Given the description of an element on the screen output the (x, y) to click on. 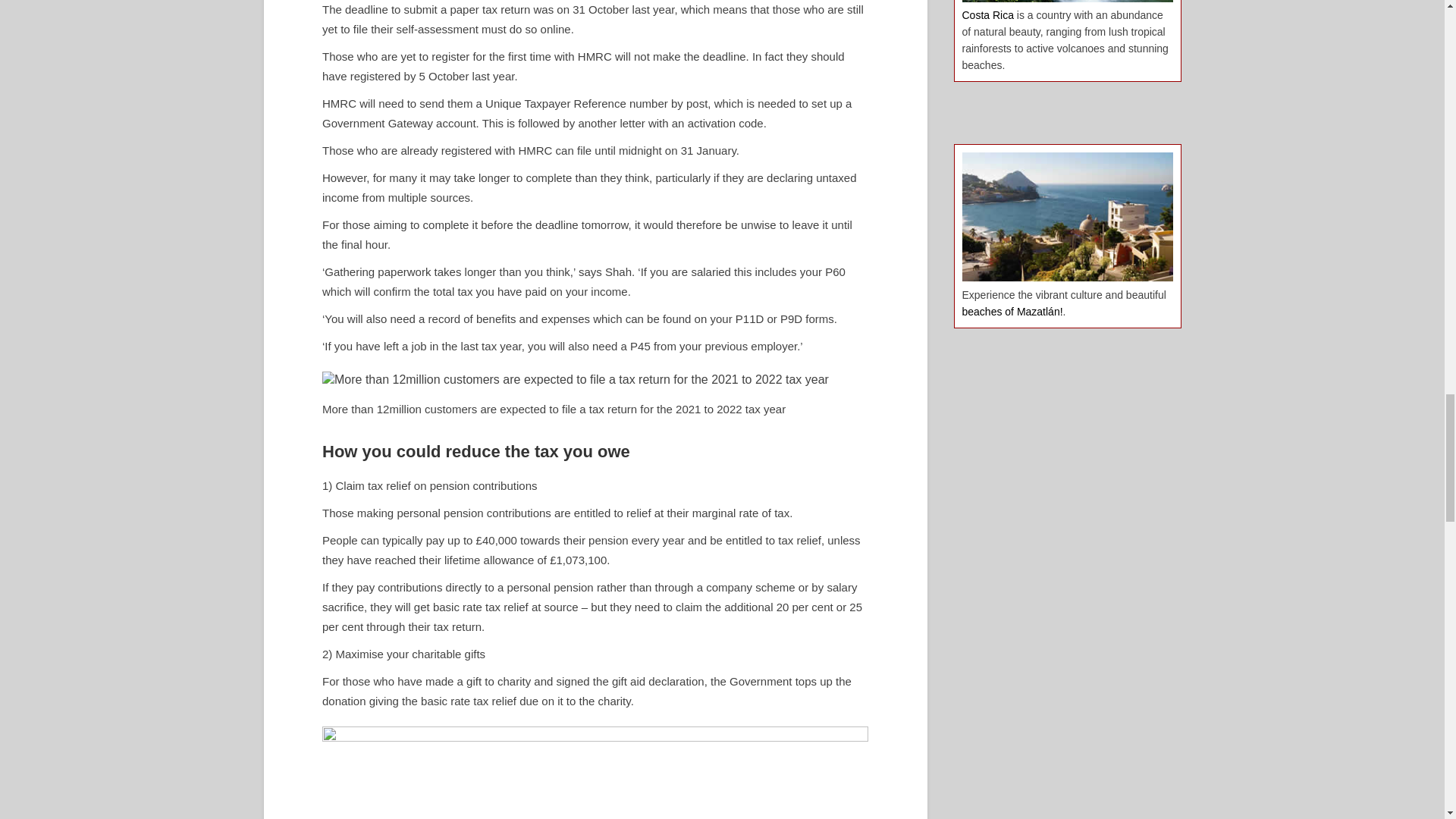
Costa Rica (986, 15)
